Given the description of an element on the screen output the (x, y) to click on. 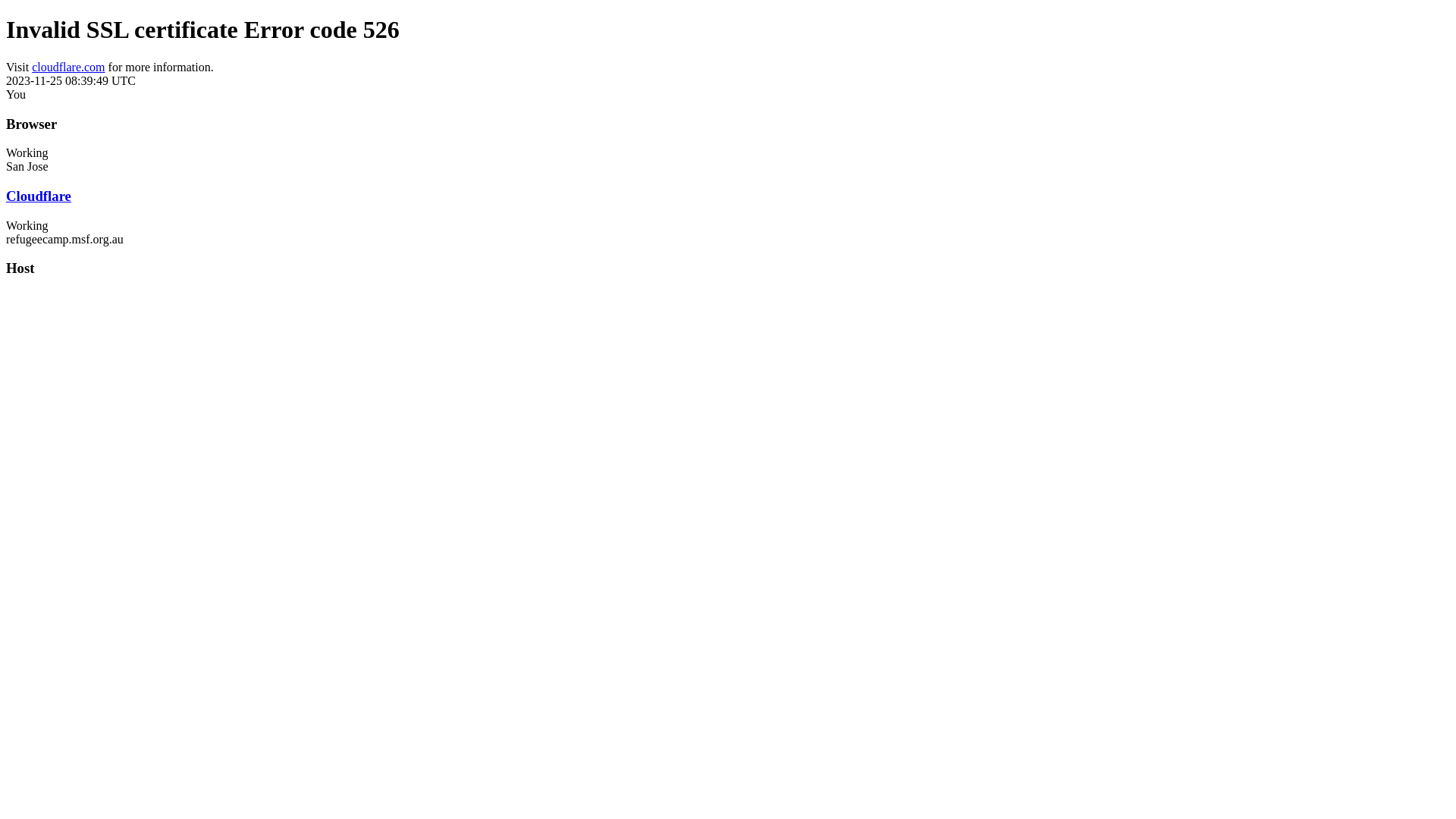
cloudflare.com Element type: text (67, 66)
Cloudflare Element type: text (38, 195)
